Given the description of an element on the screen output the (x, y) to click on. 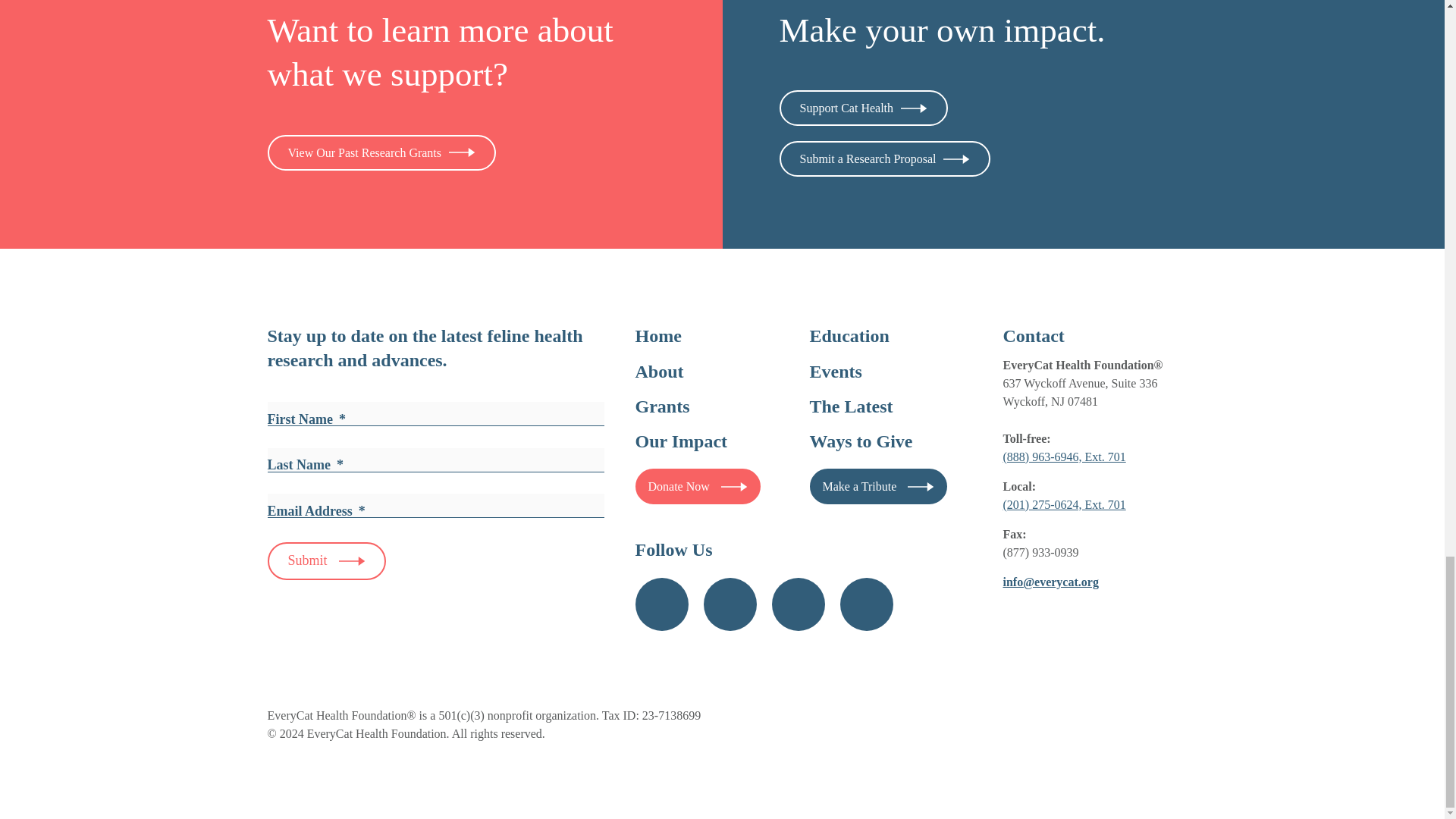
Link to Support Cat Health (863, 108)
Link to Instagram (730, 604)
Link to YouTube (798, 604)
Link to Submit a Research Proposal (884, 158)
Link to View Our Past Research Grants (381, 152)
Link to Facebook (661, 604)
